Given the description of an element on the screen output the (x, y) to click on. 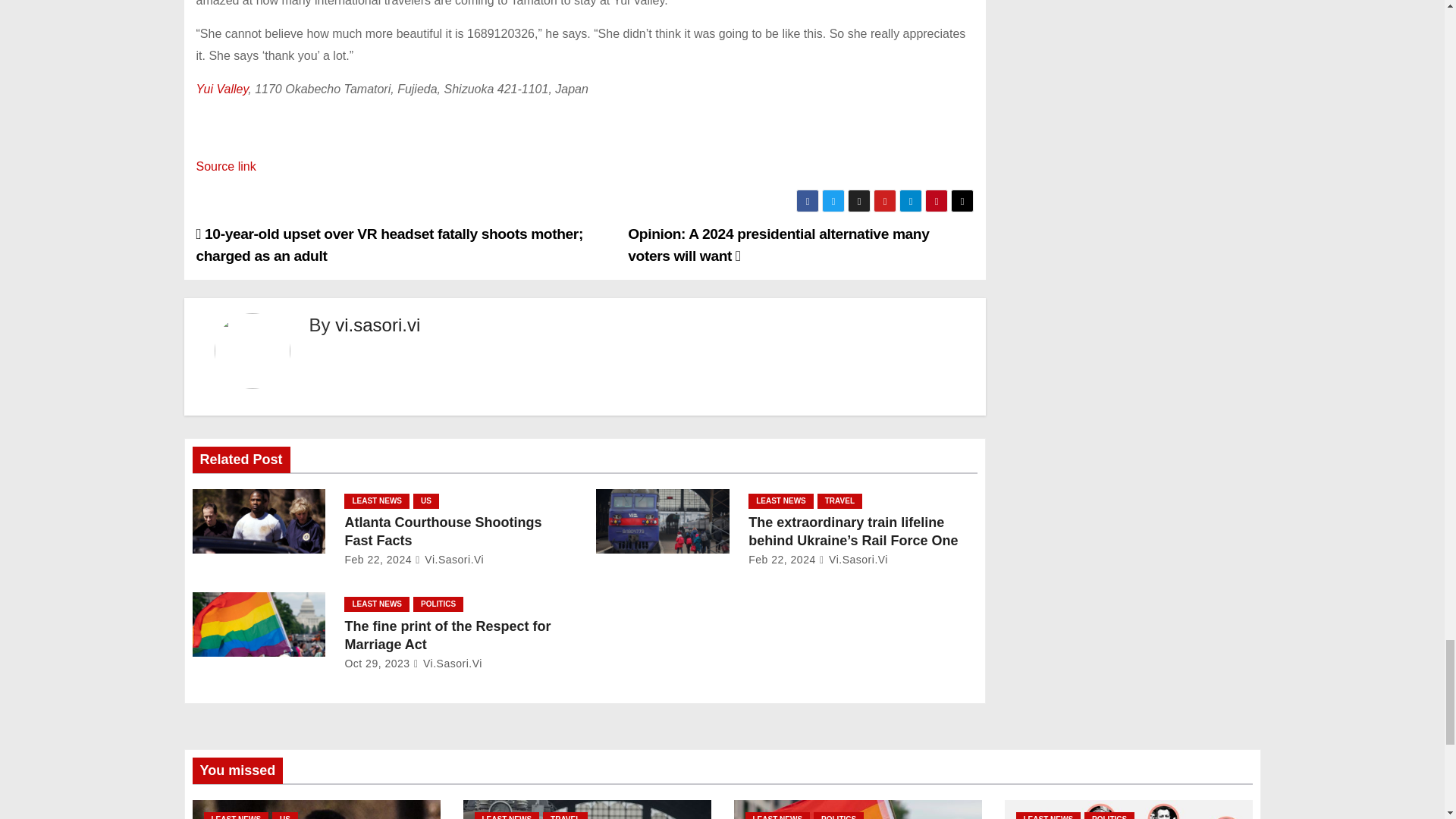
Permalink to: The fine print of the Respect for Marriage Act (446, 635)
Permalink to: Atlanta Courthouse Shootings Fast Facts (442, 531)
